Given the description of an element on the screen output the (x, y) to click on. 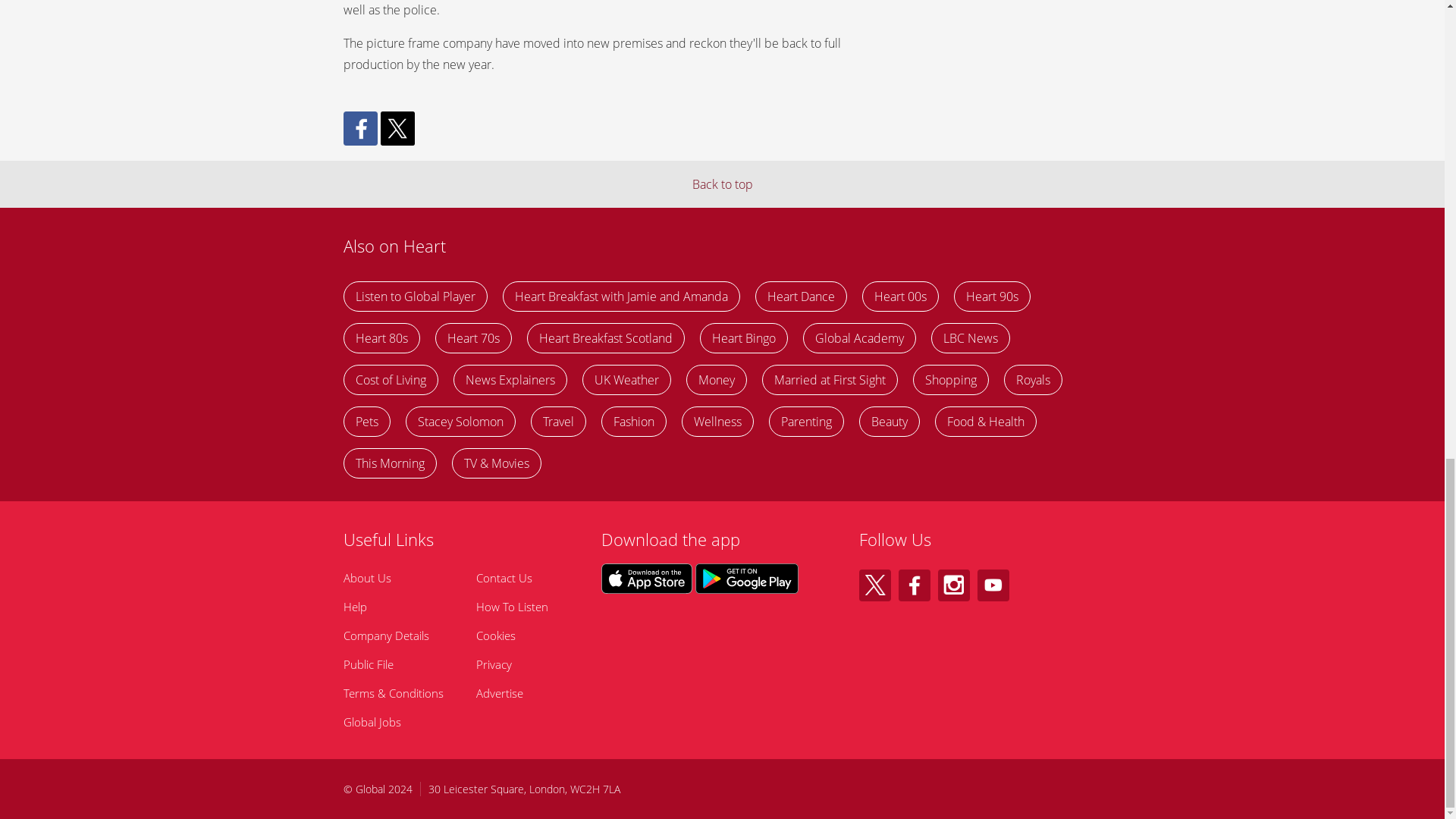
Follow Heart on Facebook (914, 585)
Back to top (721, 184)
Follow Heart on Instagram (953, 585)
Follow Heart on X (874, 585)
Follow Heart on Youtube (992, 585)
